Given the description of an element on the screen output the (x, y) to click on. 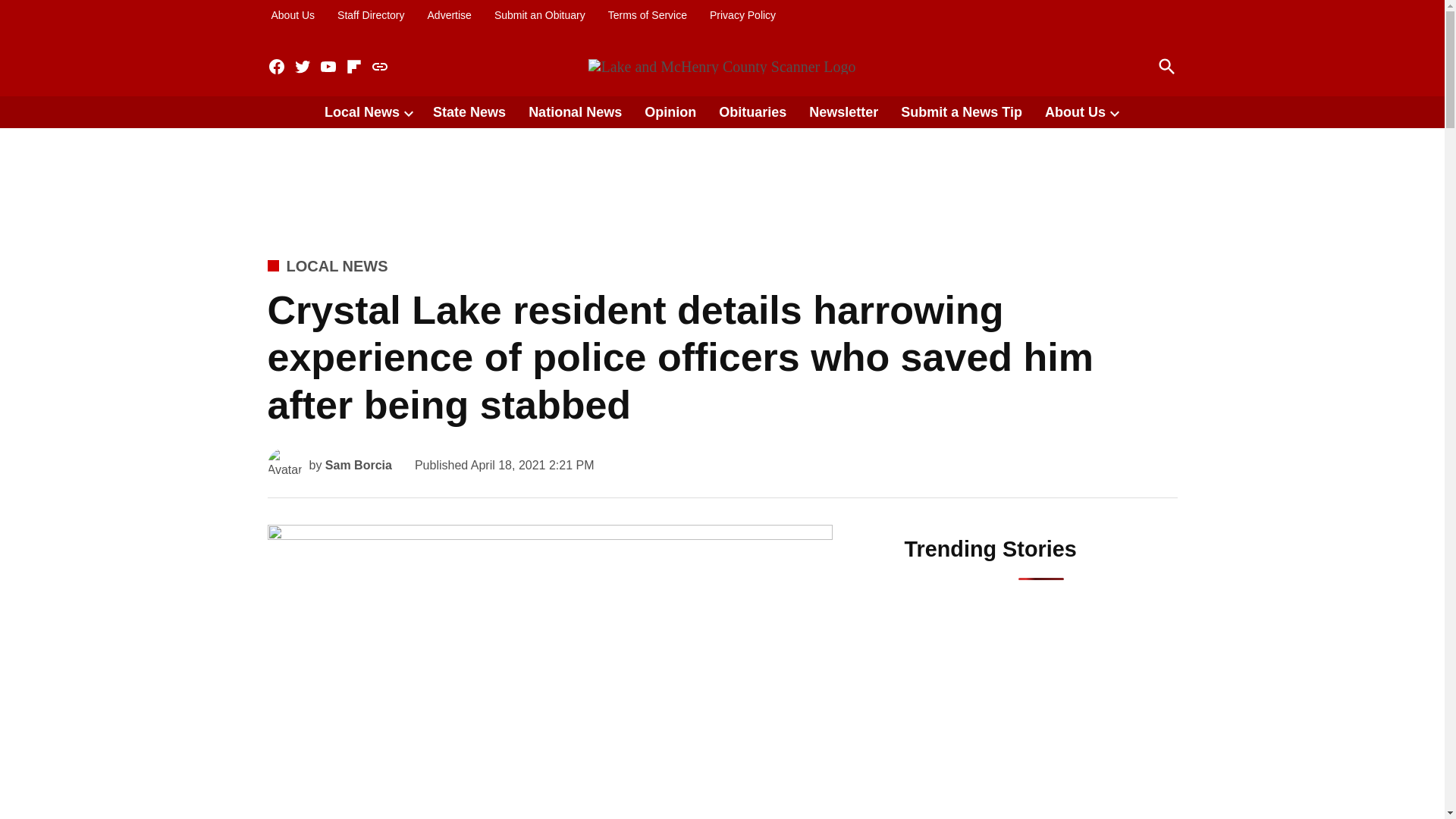
About Us (292, 14)
Terms of Service (647, 14)
Submit an Obituary (539, 14)
Facebook (275, 66)
Staff Directory (370, 14)
Advertise (449, 14)
Privacy Policy (742, 14)
